Given the description of an element on the screen output the (x, y) to click on. 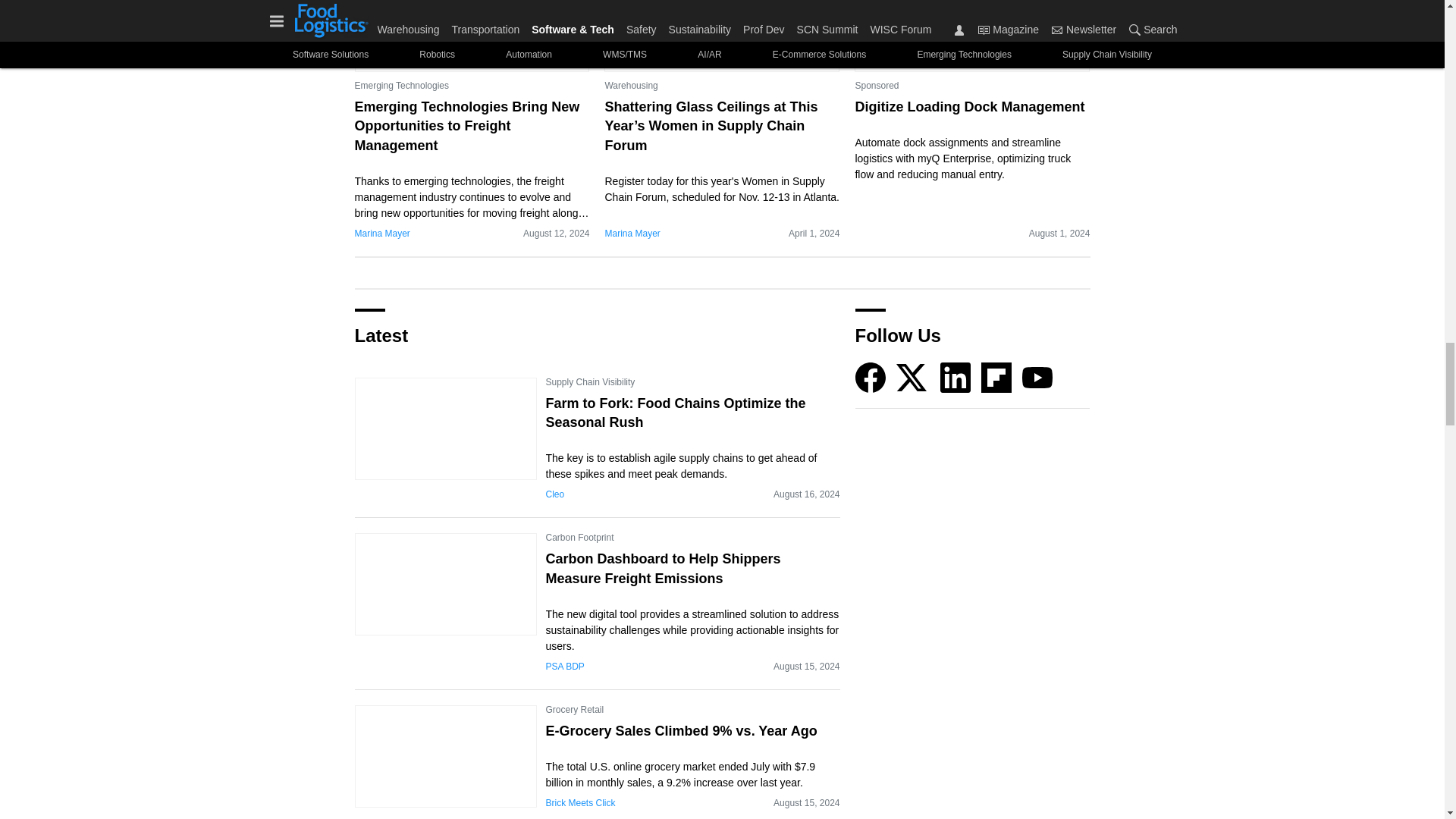
Warehousing (631, 85)
Facebook icon (870, 377)
Twitter X icon (911, 377)
Sponsored (876, 85)
YouTube icon (1037, 377)
LinkedIn icon (955, 377)
Flipboard icon (996, 377)
